Given the description of an element on the screen output the (x, y) to click on. 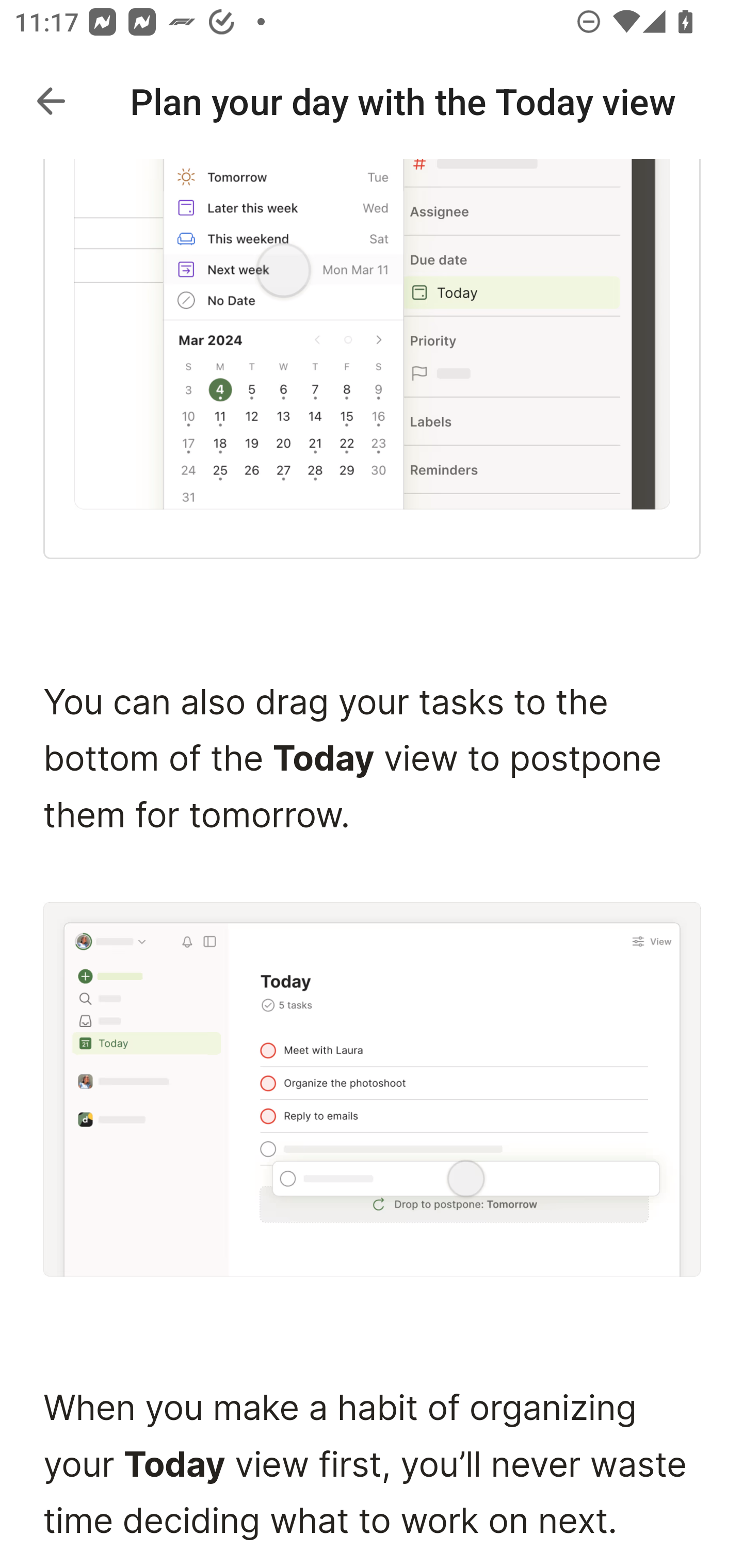
Navigate up (50, 101)
clearup-day-web.png (371, 334)
drag-to-postpone-web.png (372, 1088)
